Given the description of an element on the screen output the (x, y) to click on. 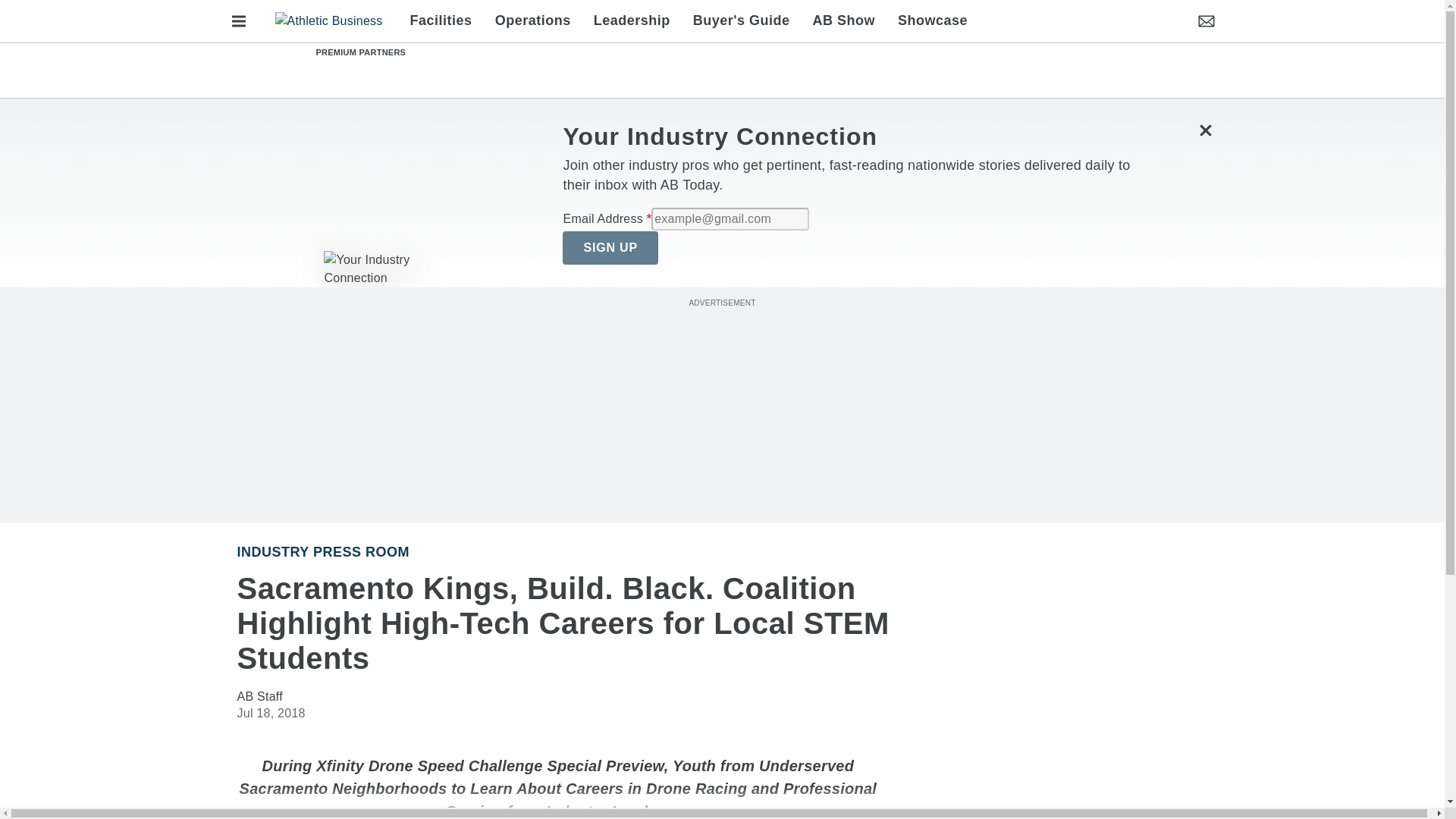
Facilities (446, 21)
Leadership (631, 21)
SIGN UP (610, 247)
Operations (532, 21)
Showcase (927, 21)
AB Show (844, 21)
